Given the description of an element on the screen output the (x, y) to click on. 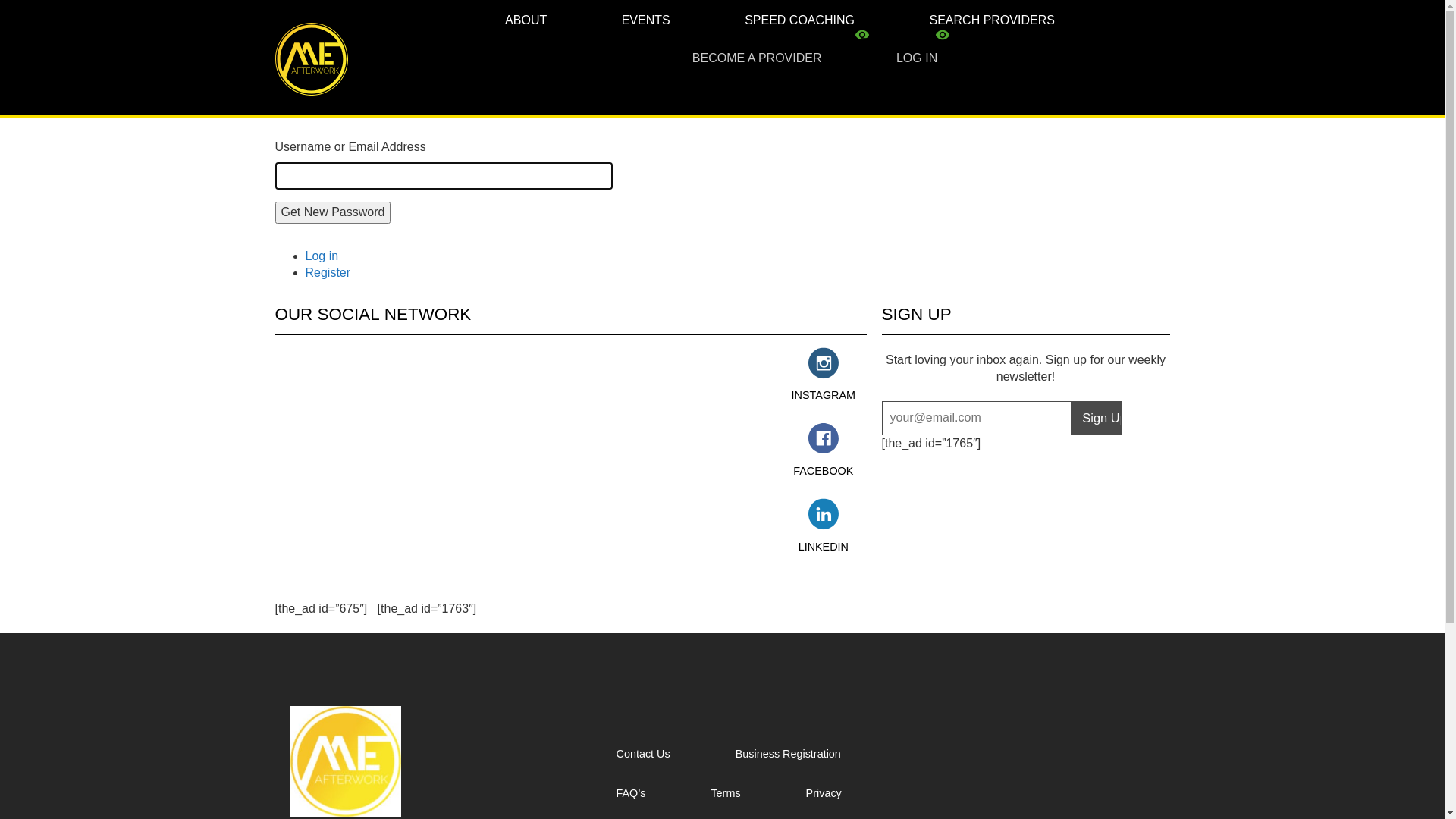
LOG IN Element type: text (899, 56)
EVENTS Element type: text (645, 18)
Contact Us Element type: text (666, 766)
SEARCH PROVIDERS Element type: text (991, 18)
Sign Up! Element type: text (1096, 417)
INSTAGRAM Element type: text (823, 374)
Business Registration Element type: text (811, 766)
Get New Password Element type: text (332, 212)
SPEED COACHING Element type: text (799, 18)
BECOME A PROVIDER Element type: text (756, 56)
LINKEDIN Element type: text (823, 525)
ABOUT Element type: text (543, 18)
FACEBOOK Element type: text (823, 449)
Log in Element type: text (321, 255)
Register Element type: text (327, 272)
